Given the description of an element on the screen output the (x, y) to click on. 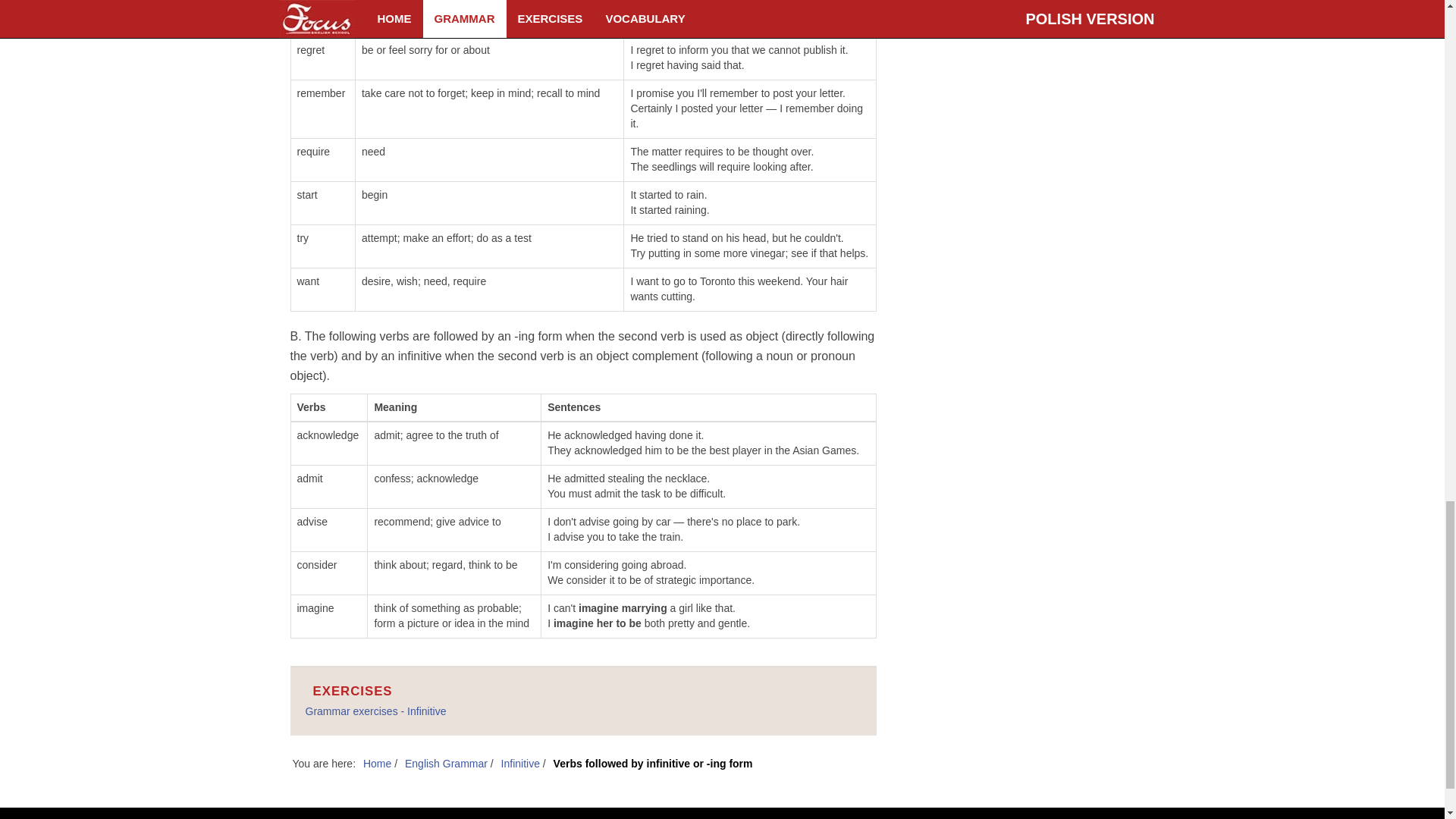
Infinitive (521, 763)
Verbs followed by infinitive or -ing form (652, 763)
Grammar exercises - Infinitive (374, 711)
Home (378, 763)
English Grammar (447, 763)
